Given the description of an element on the screen output the (x, y) to click on. 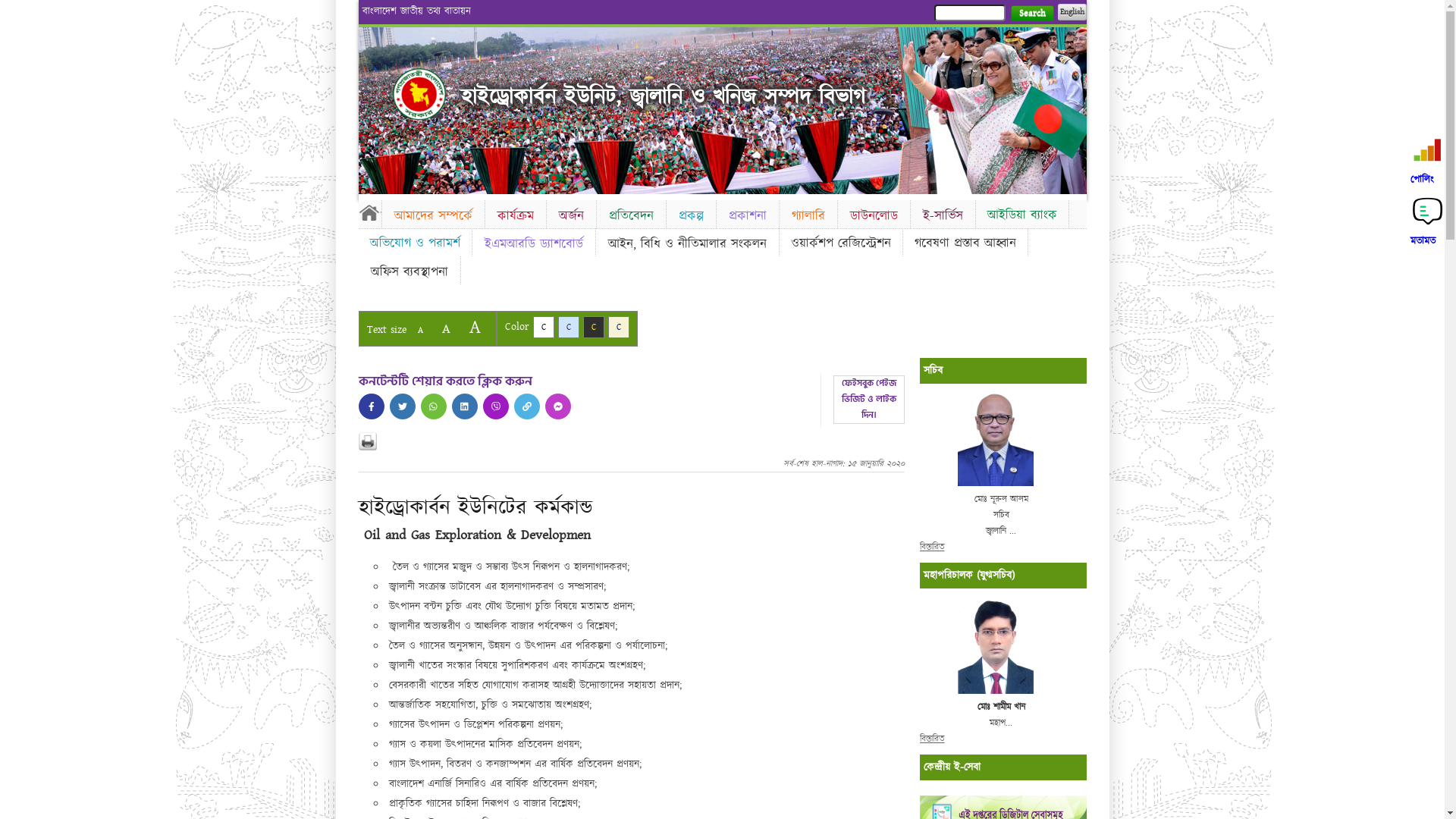
C Element type: text (568, 327)
A Element type: text (419, 330)
C Element type: text (542, 327)
A Element type: text (474, 327)
Search Element type: text (1031, 13)
Home Element type: hover (418, 93)
English Element type: text (1071, 11)
C Element type: text (592, 327)
A Element type: text (445, 328)
C Element type: text (618, 327)
Home Element type: hover (368, 211)
